Given the description of an element on the screen output the (x, y) to click on. 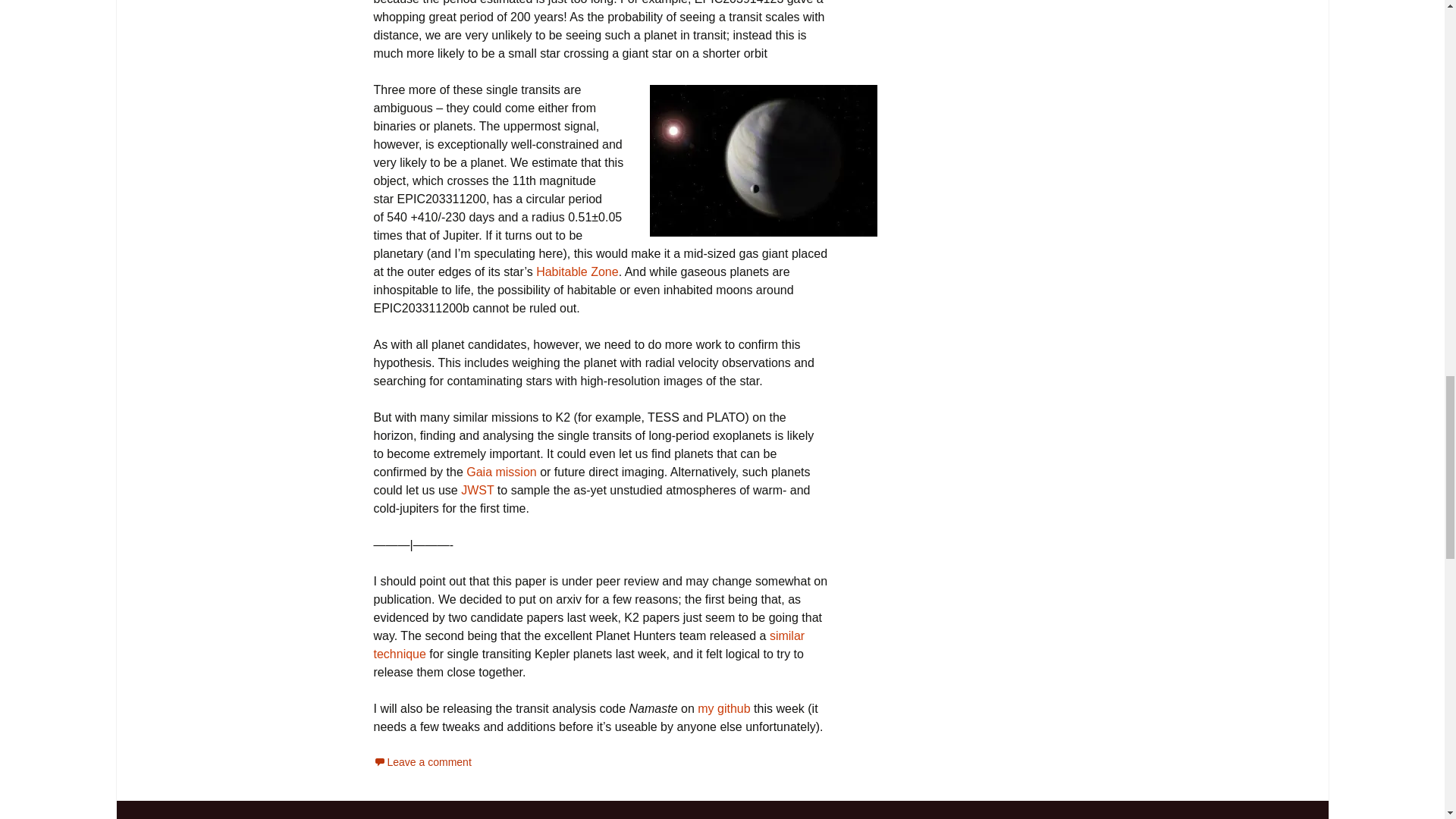
similar technique (588, 644)
my github (723, 707)
Leave a comment (421, 761)
JWST (477, 490)
Habitable Zone (576, 271)
Gaia mission (500, 472)
